Given the description of an element on the screen output the (x, y) to click on. 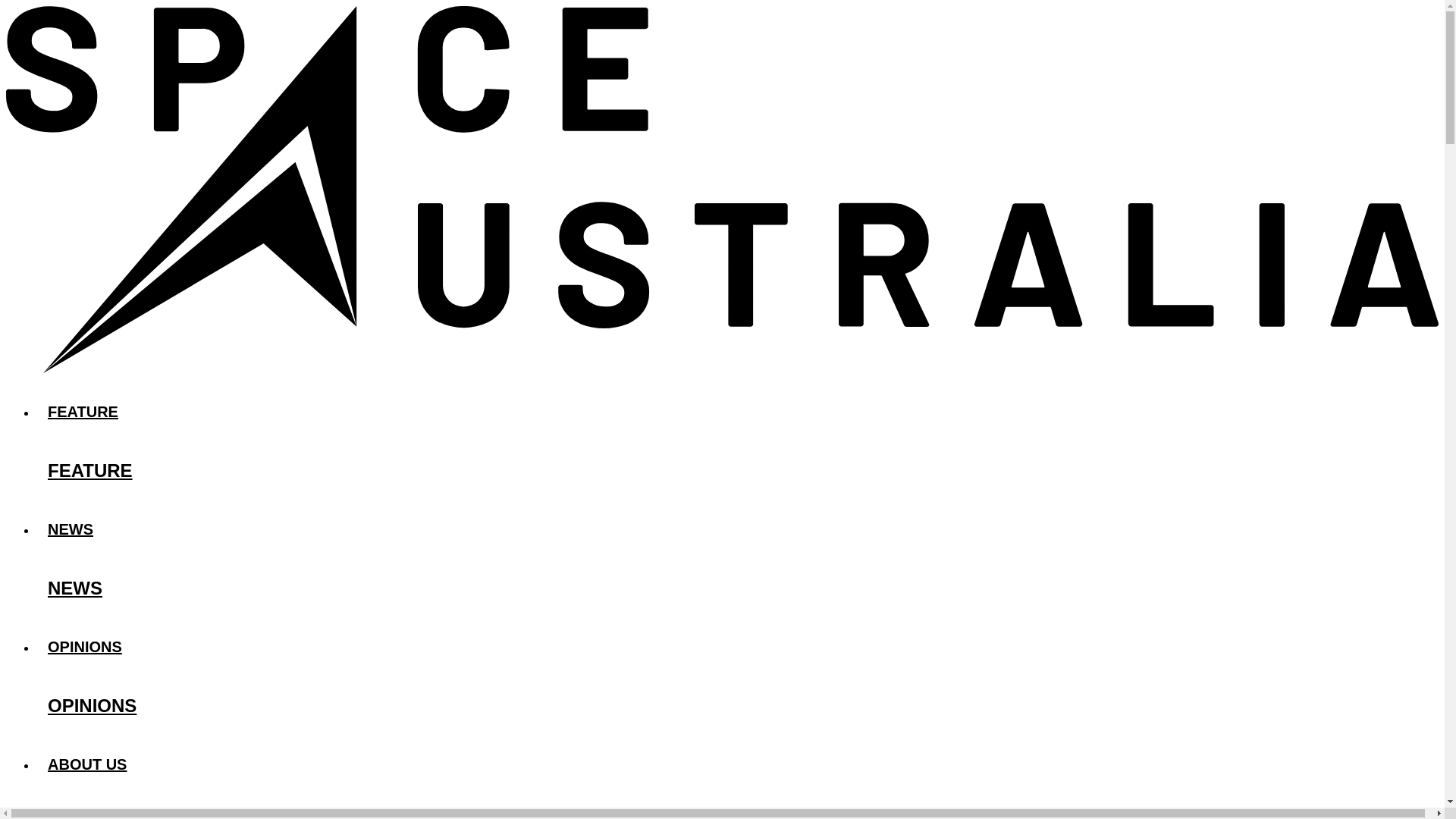
NEWS (737, 588)
OPINIONS (737, 646)
NEWS (737, 529)
Skip to main content (722, 7)
ABOUT US (737, 808)
FEATURE (737, 411)
FEATURE (737, 470)
ABOUT US (737, 764)
OPINIONS (737, 706)
